Given the description of an element on the screen output the (x, y) to click on. 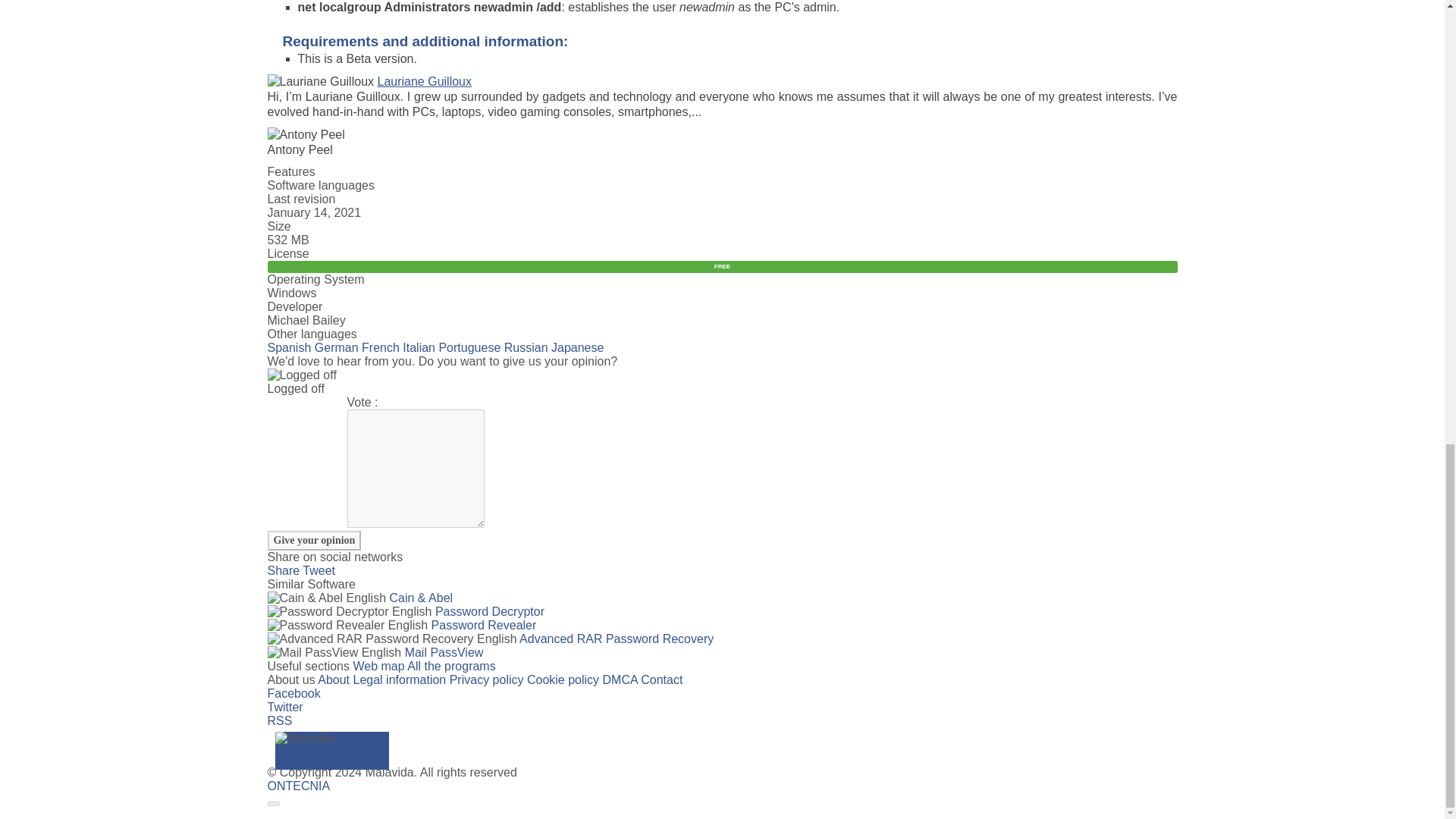
4 (293, 402)
Lauriane Guilloux at Malavida (424, 81)
SysPopper German (336, 347)
SysPopper Italian (419, 347)
Spanish (288, 347)
1 (270, 402)
8 (323, 402)
6 (308, 402)
9 (330, 402)
Russian (525, 347)
5 (300, 402)
SysPopper Spanish (288, 347)
French (379, 347)
German (336, 347)
SysPopper French (379, 347)
